Given the description of an element on the screen output the (x, y) to click on. 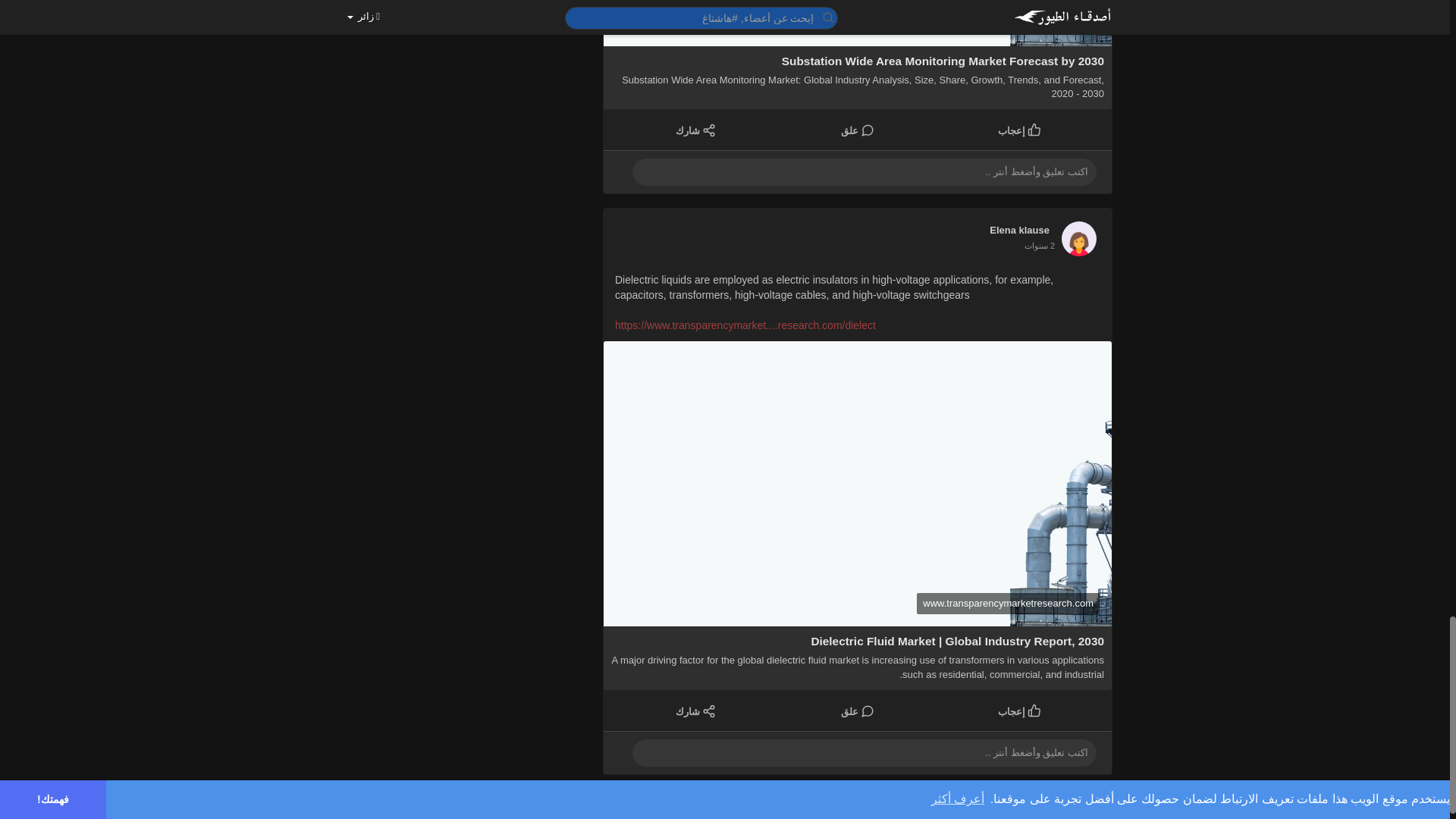
Elena klause (1019, 229)
